Given the description of an element on the screen output the (x, y) to click on. 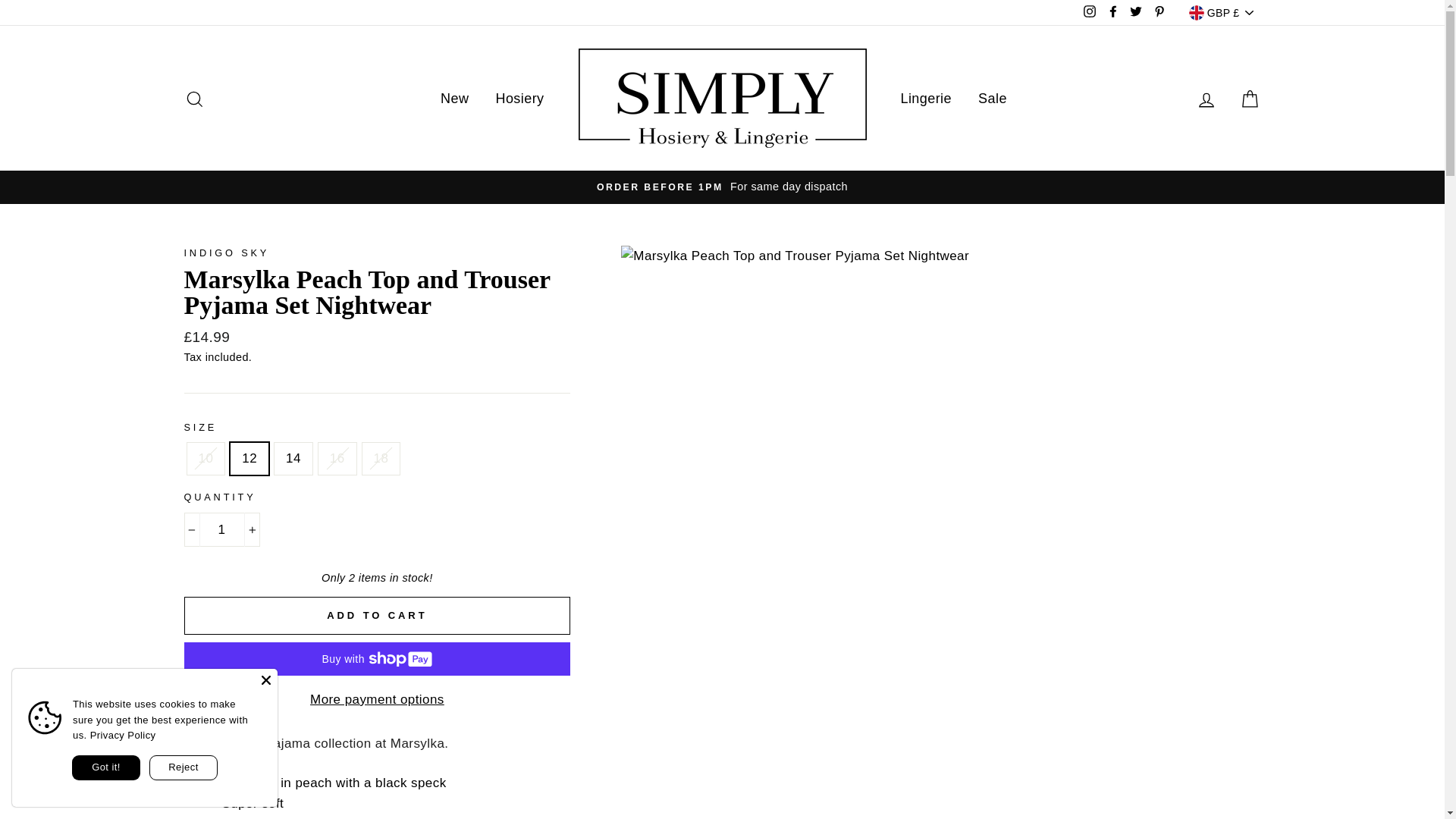
Privacy Policy (122, 735)
1 (221, 529)
